Given the description of an element on the screen output the (x, y) to click on. 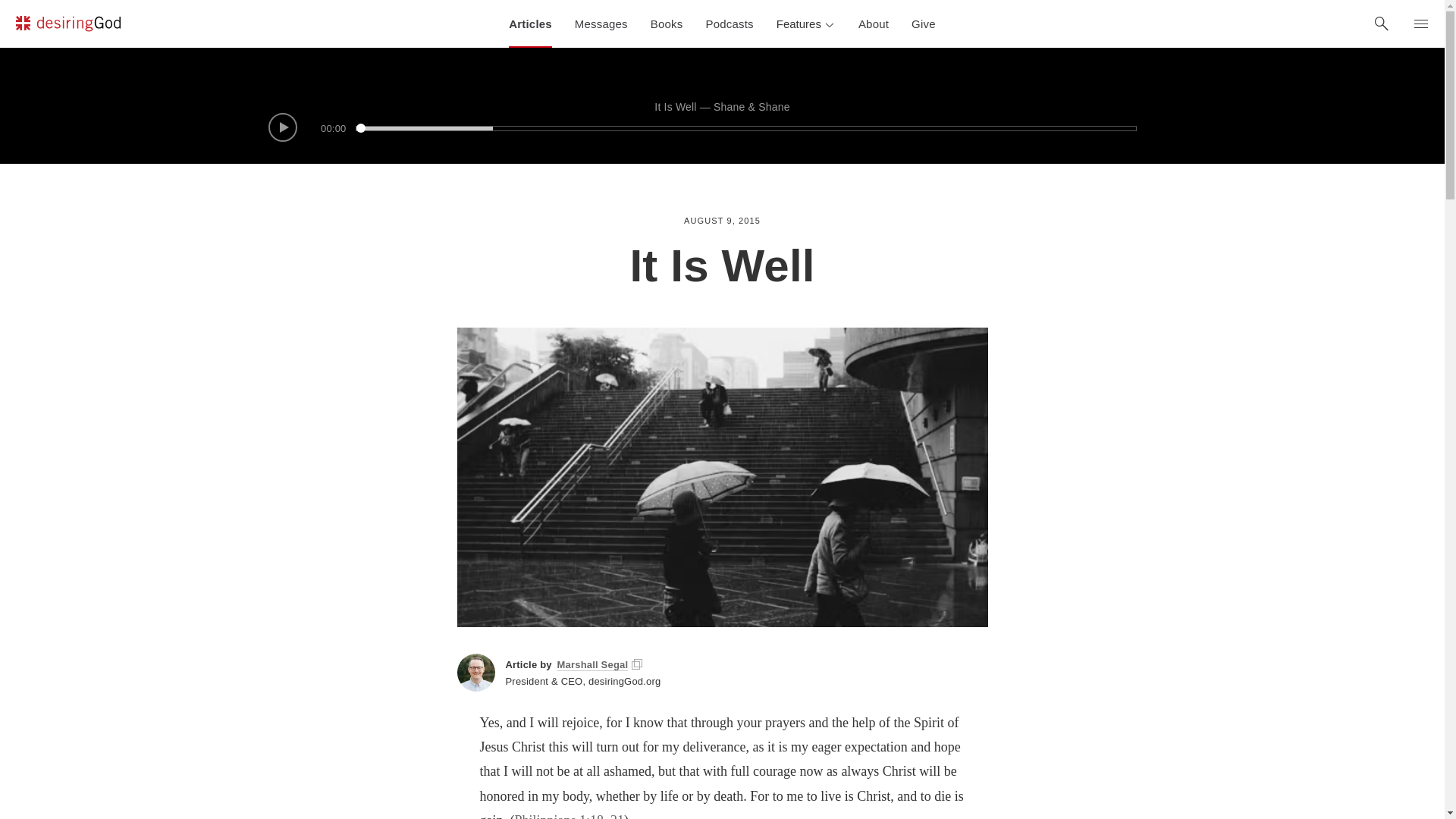
Features (806, 23)
Articles (530, 23)
Desiring God Logo (67, 25)
Books (666, 23)
Messages (601, 23)
Desiring God Logo (67, 23)
Give (923, 23)
Podcasts (729, 23)
About (873, 23)
